Given the description of an element on the screen output the (x, y) to click on. 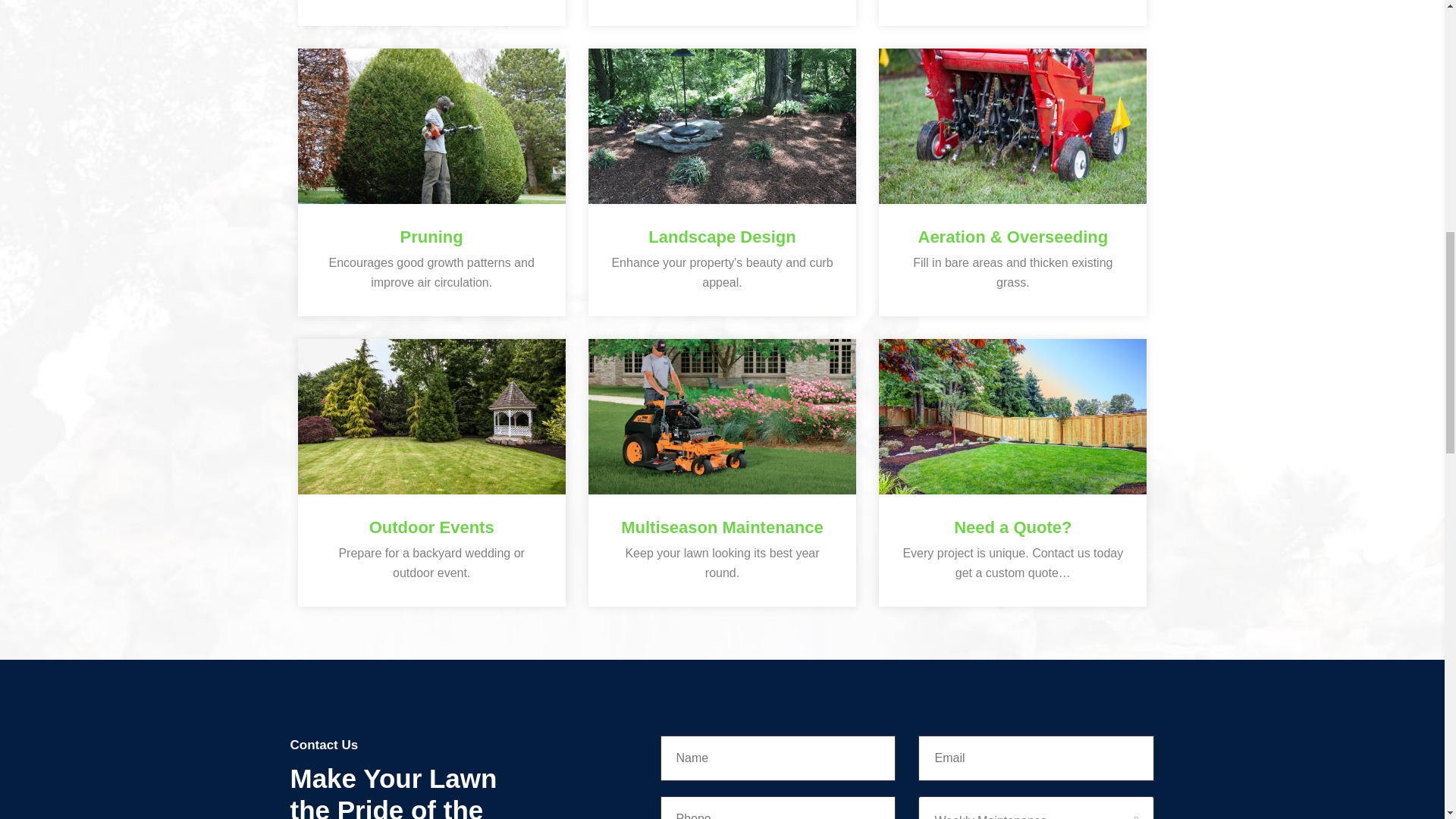
Need a Quote? (1012, 527)
Pruning (430, 237)
Outdoor Events (430, 527)
Landscape Design (722, 237)
Multiseason Maintenance (722, 527)
